Given the description of an element on the screen output the (x, y) to click on. 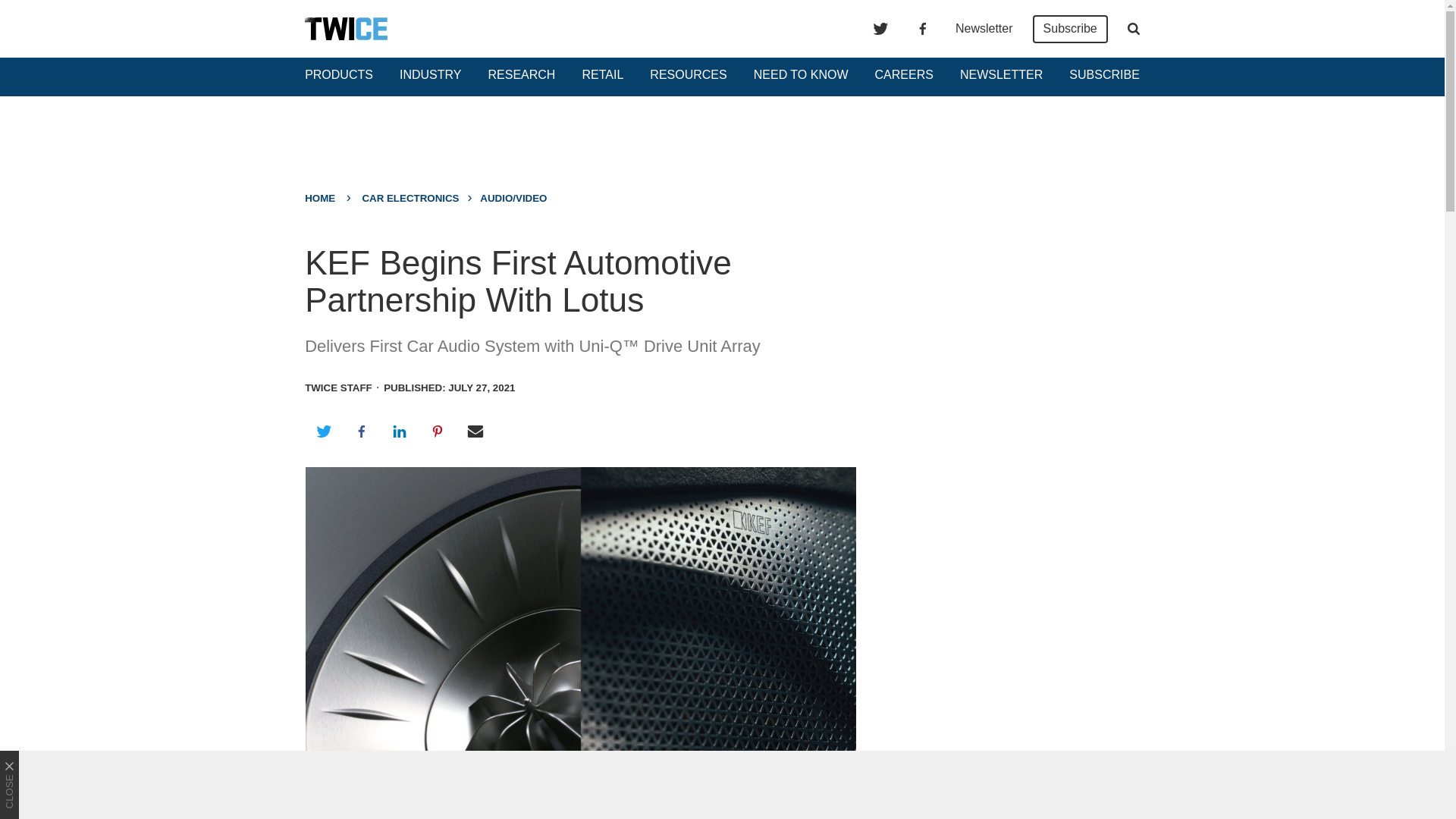
Share on Twitter (323, 431)
Share on Pinterest (438, 431)
Share on Facebook (361, 431)
Posts by TWICE Staff (338, 387)
Share via Email (476, 431)
Share on LinkedIn (399, 431)
